Given the description of an element on the screen output the (x, y) to click on. 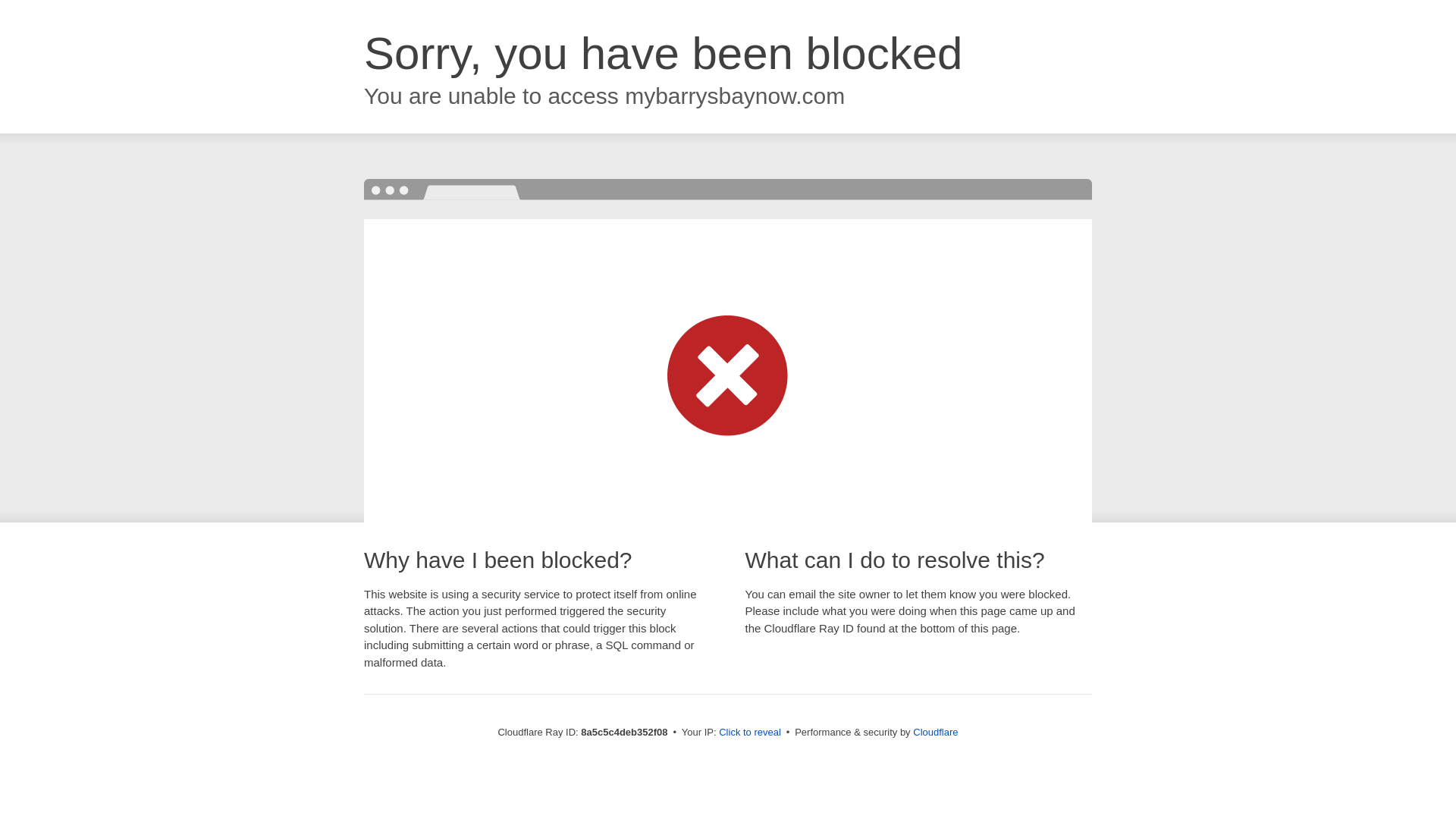
Click to reveal (749, 732)
Cloudflare (935, 731)
